Given the description of an element on the screen output the (x, y) to click on. 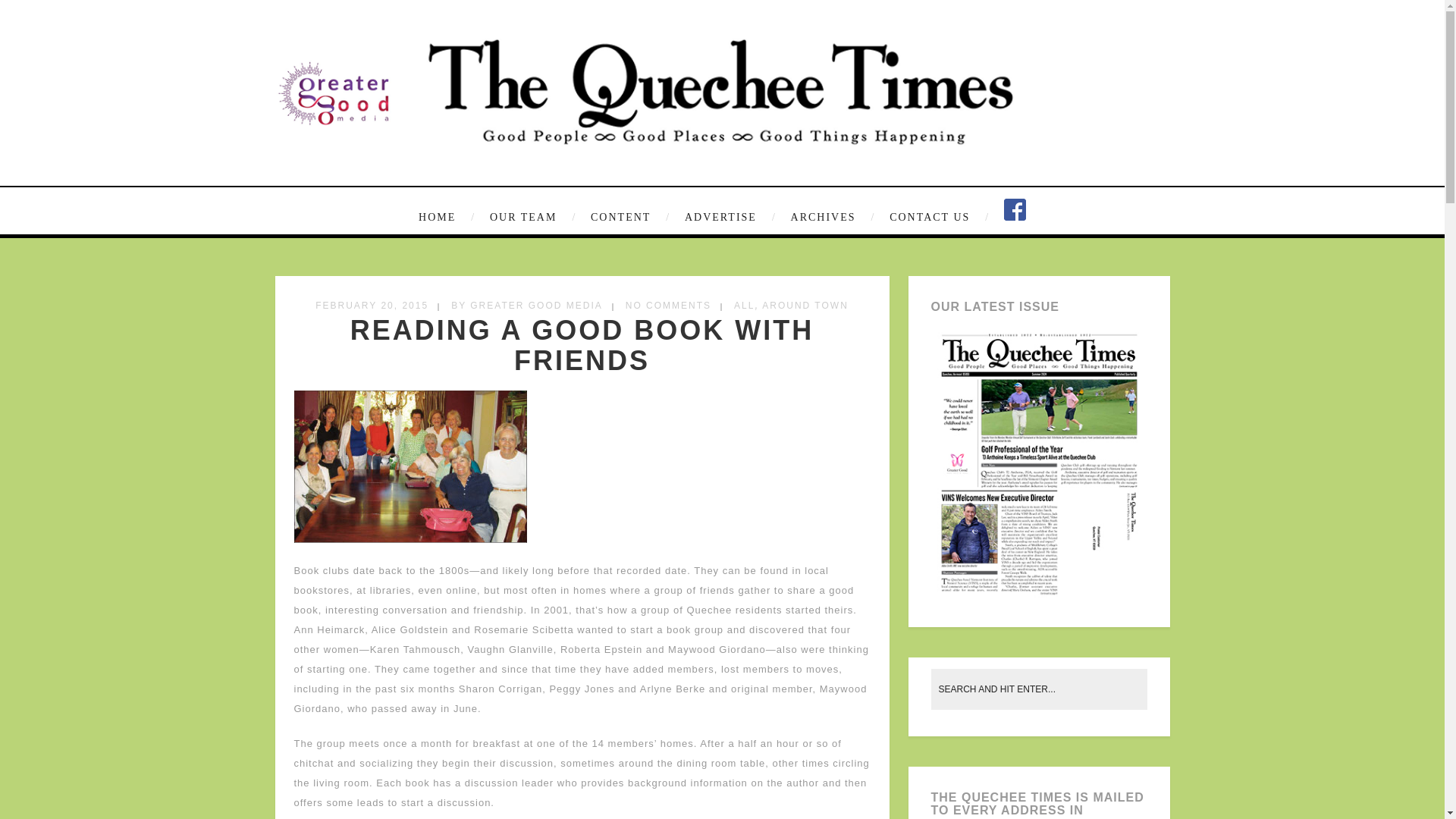
Permanent Link to Reading A Good Book with Friends (581, 344)
CONTENT (627, 217)
OUR TEAM (530, 217)
ADVERTISE (727, 217)
Search and hit enter... (1039, 689)
HOME (449, 217)
